Given the description of an element on the screen output the (x, y) to click on. 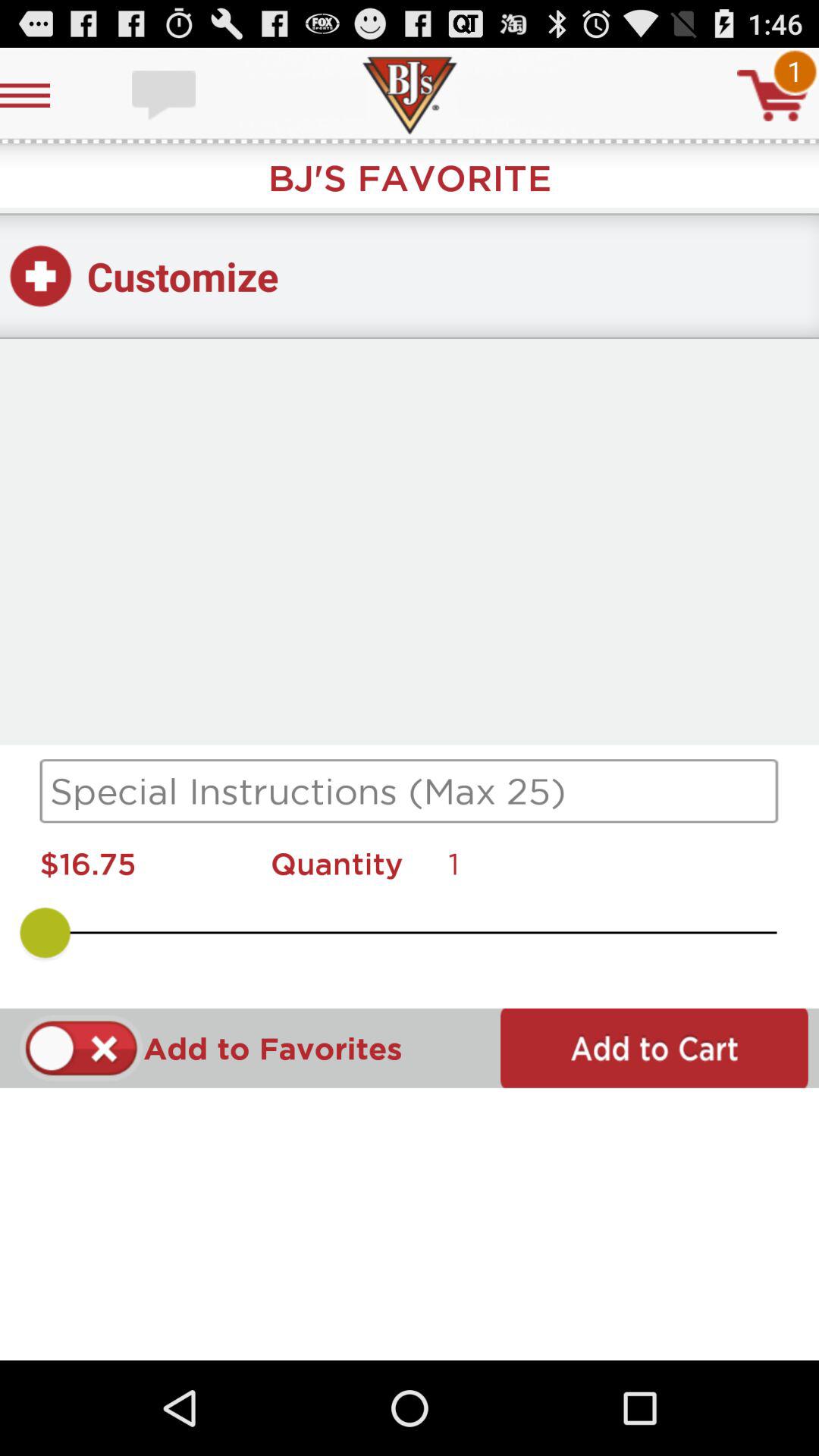
select the add to cart (654, 1048)
